Given the description of an element on the screen output the (x, y) to click on. 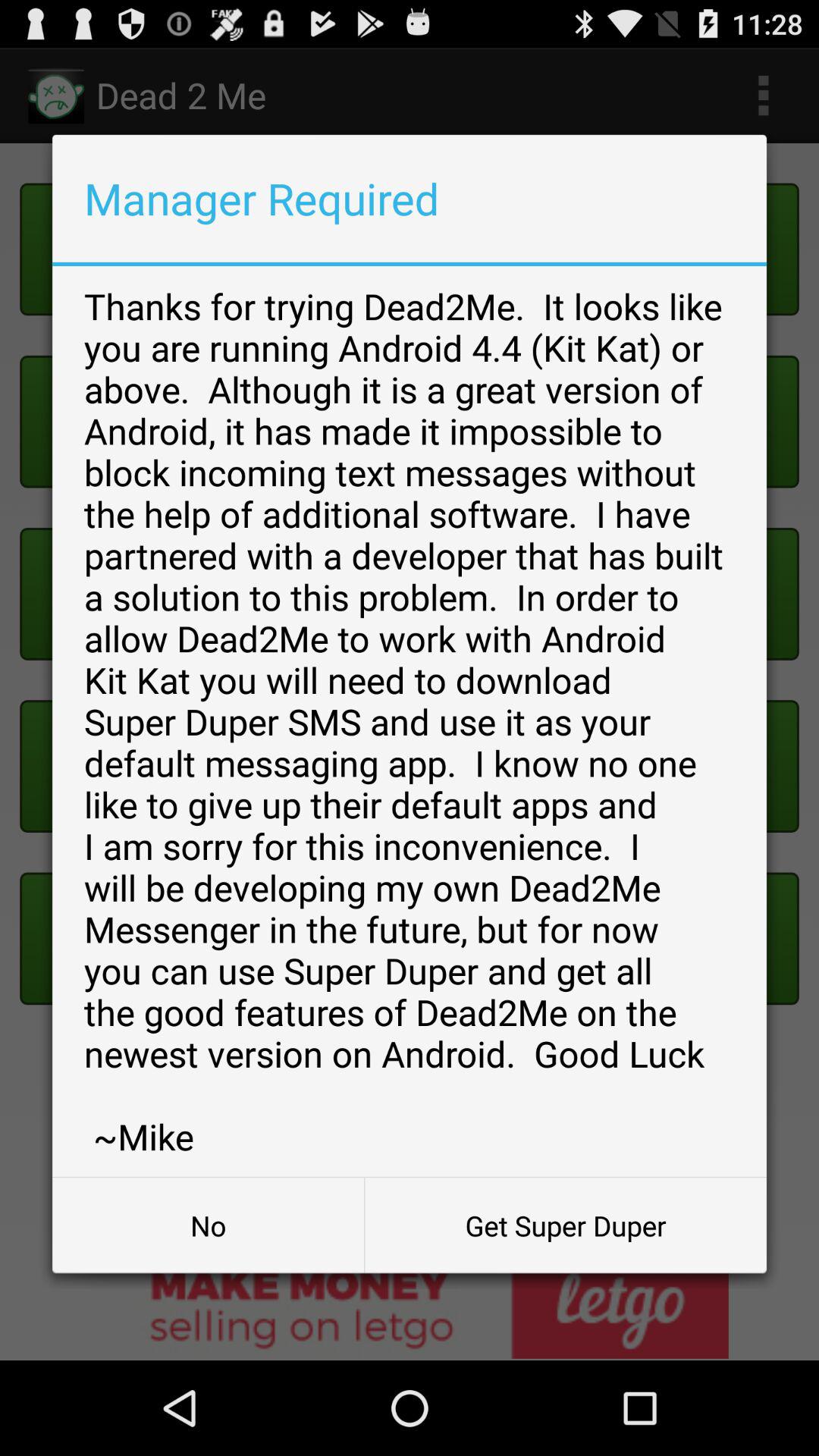
choose icon to the right of the no button (565, 1225)
